Given the description of an element on the screen output the (x, y) to click on. 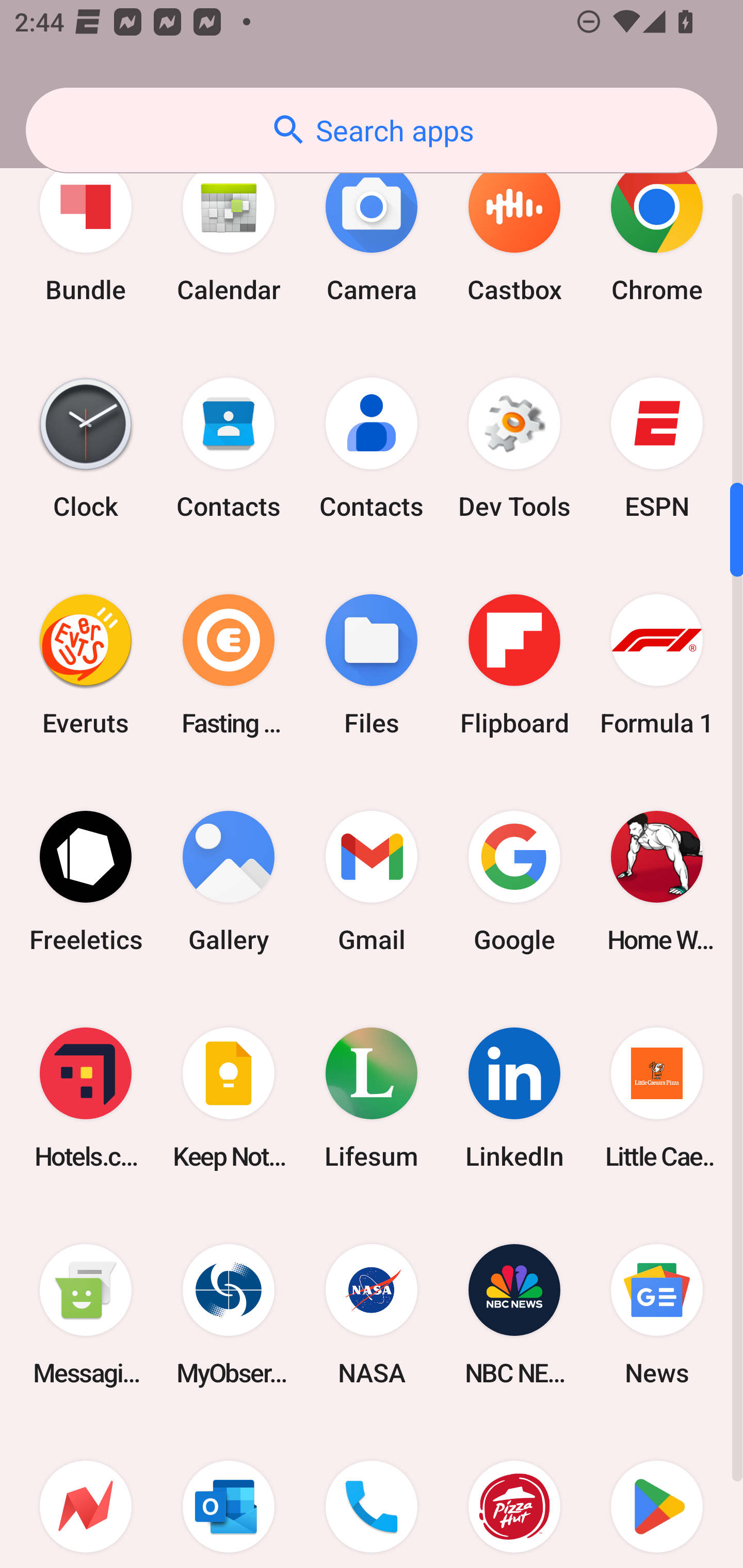
  Search apps (371, 130)
Bundle (85, 231)
Calendar (228, 231)
Camera (371, 231)
Castbox (514, 231)
Chrome (656, 231)
Clock (85, 448)
Contacts (228, 448)
Contacts (371, 448)
Dev Tools (514, 448)
ESPN (656, 448)
Everuts (85, 664)
Fasting Coach (228, 664)
Files (371, 664)
Flipboard (514, 664)
Formula 1 (656, 664)
Freeletics (85, 881)
Gallery (228, 881)
Gmail (371, 881)
Google (514, 881)
Home Workout (656, 881)
Hotels.com (85, 1097)
Keep Notes (228, 1097)
Lifesum (371, 1097)
LinkedIn (514, 1097)
Little Caesars Pizza (656, 1097)
Messaging (85, 1314)
MyObservatory (228, 1314)
NASA (371, 1314)
NBC NEWS (514, 1314)
News (656, 1314)
NewsBreak (85, 1495)
Outlook (228, 1495)
Phone (371, 1495)
Pizza Hut HK & Macau (514, 1495)
Play Store (656, 1495)
